Given the description of an element on the screen output the (x, y) to click on. 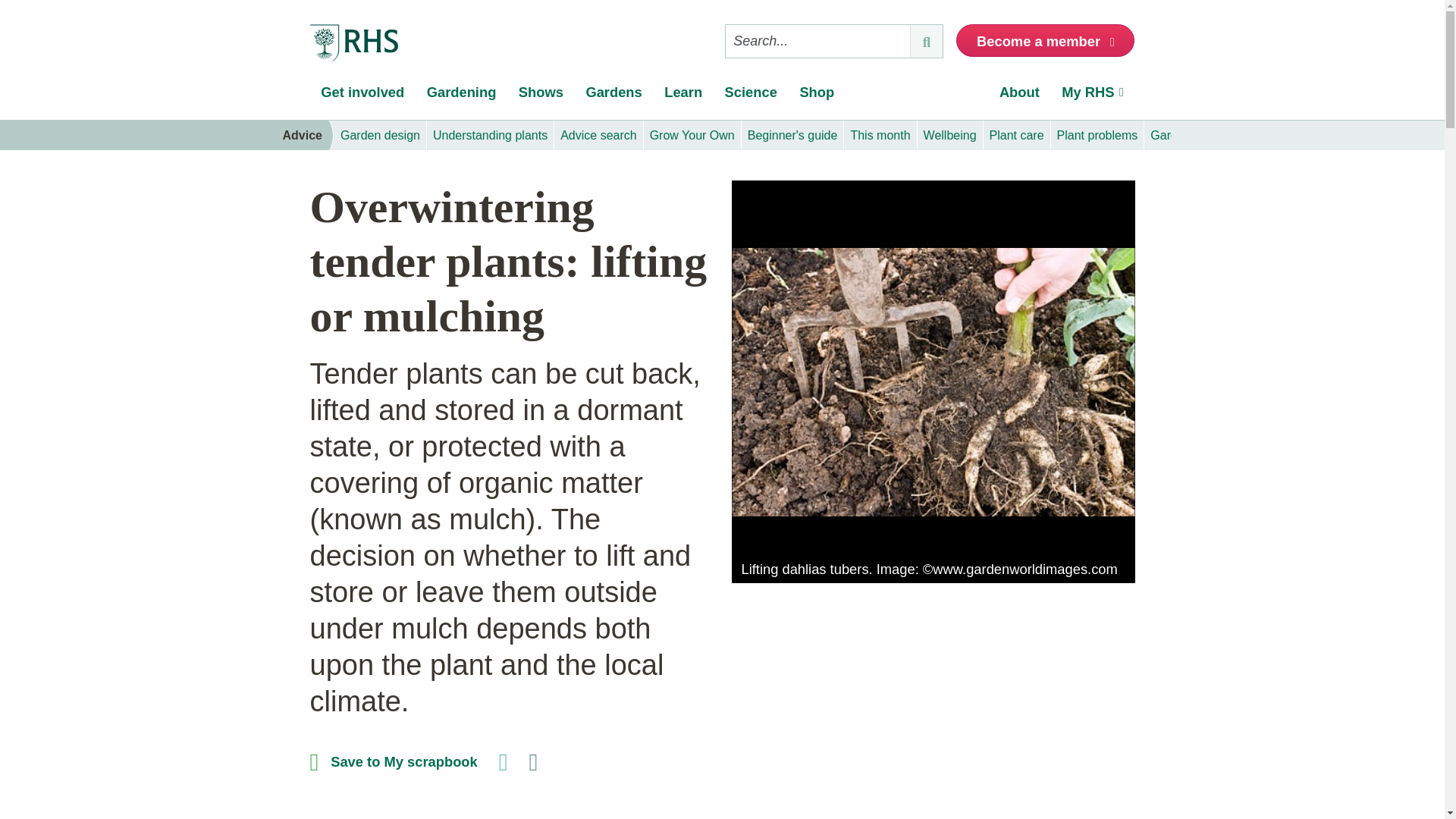
Shows (540, 96)
Home (353, 43)
About (1018, 96)
My RHS (1093, 96)
Become a member (1045, 40)
Shop (817, 96)
Submit (926, 41)
Gardens (614, 96)
Get involved (361, 96)
Learn (682, 96)
Gardening (460, 96)
Science (751, 96)
